Given the description of an element on the screen output the (x, y) to click on. 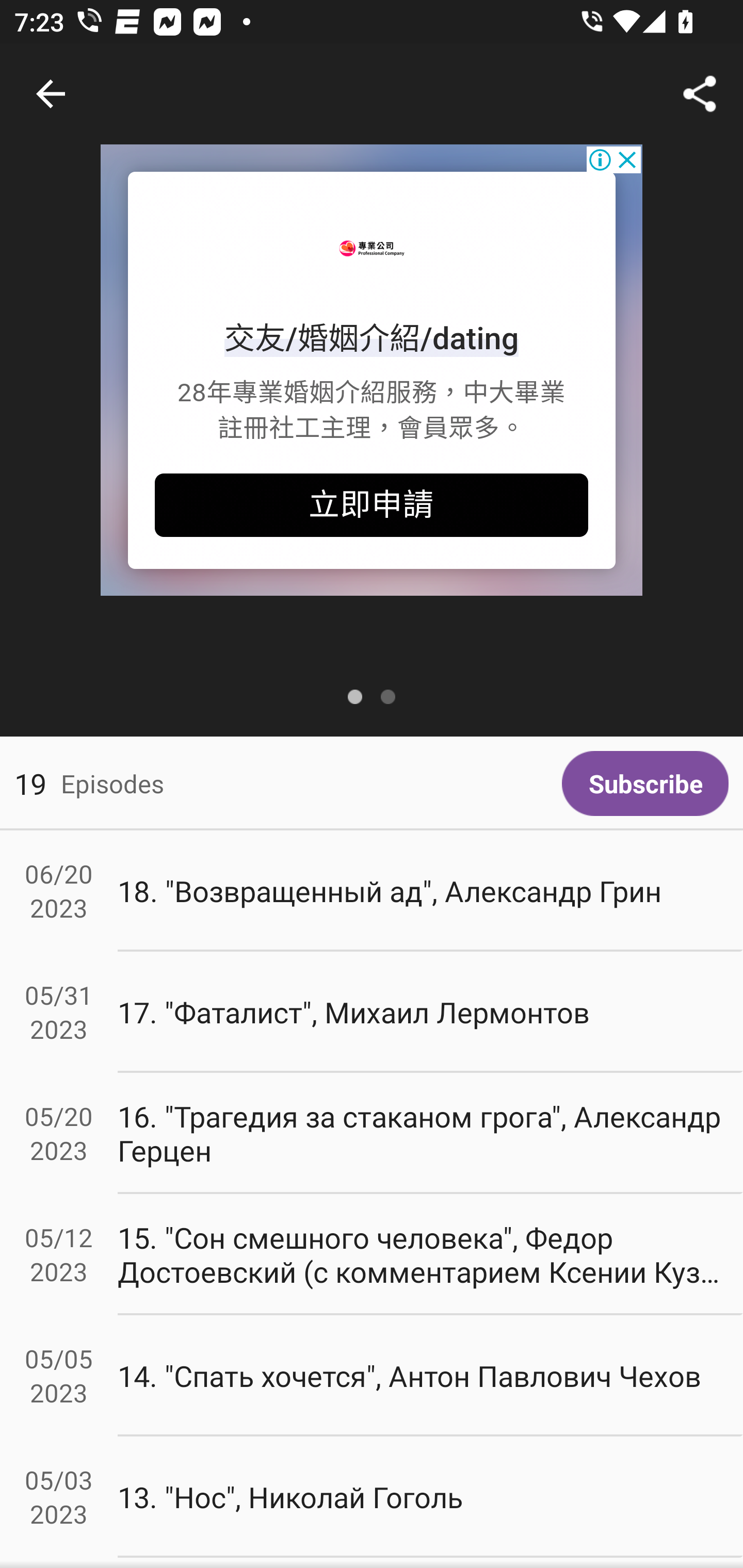
Navigate up (50, 93)
Share... (699, 93)
交友/婚姻介紹/dating (371, 338)
立即申請 (371, 505)
Subscribe (644, 783)
06/20 2023 18. "Возвращенный ад", Александр Грин (371, 891)
05/31 2023 17. "Фаталист", Михаил Лермонтов (371, 1011)
05/03 2023 13. "Нос", Николай Гоголь (371, 1496)
